Given the description of an element on the screen output the (x, y) to click on. 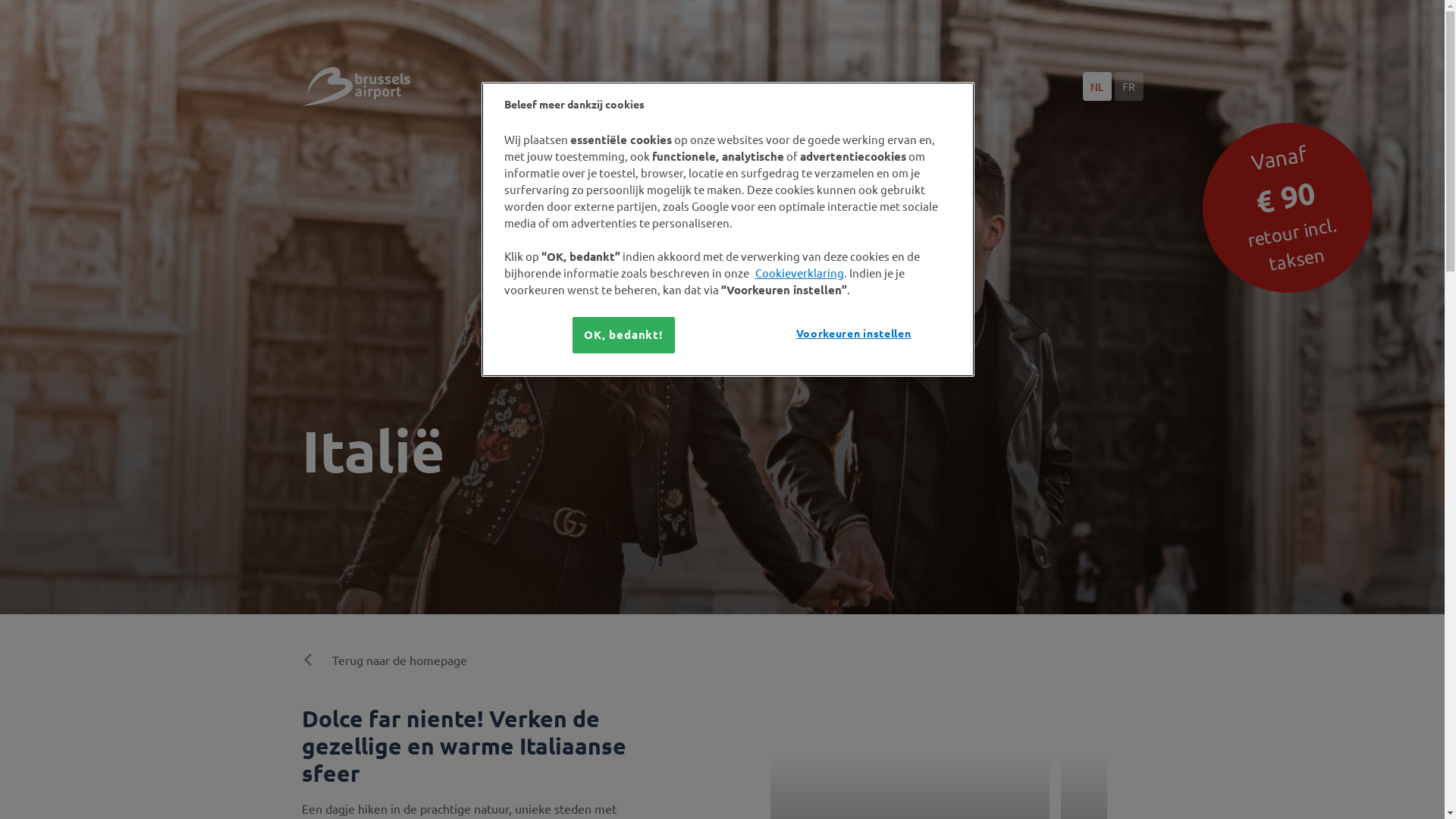
Cookieverklaring Element type: text (799, 272)
FR Element type: text (1128, 86)
Voorkeuren instellen Element type: text (853, 333)
OK, bedankt! Element type: text (622, 334)
NL Element type: text (1096, 86)
Terug naar de homepage Element type: text (384, 659)
